Given the description of an element on the screen output the (x, y) to click on. 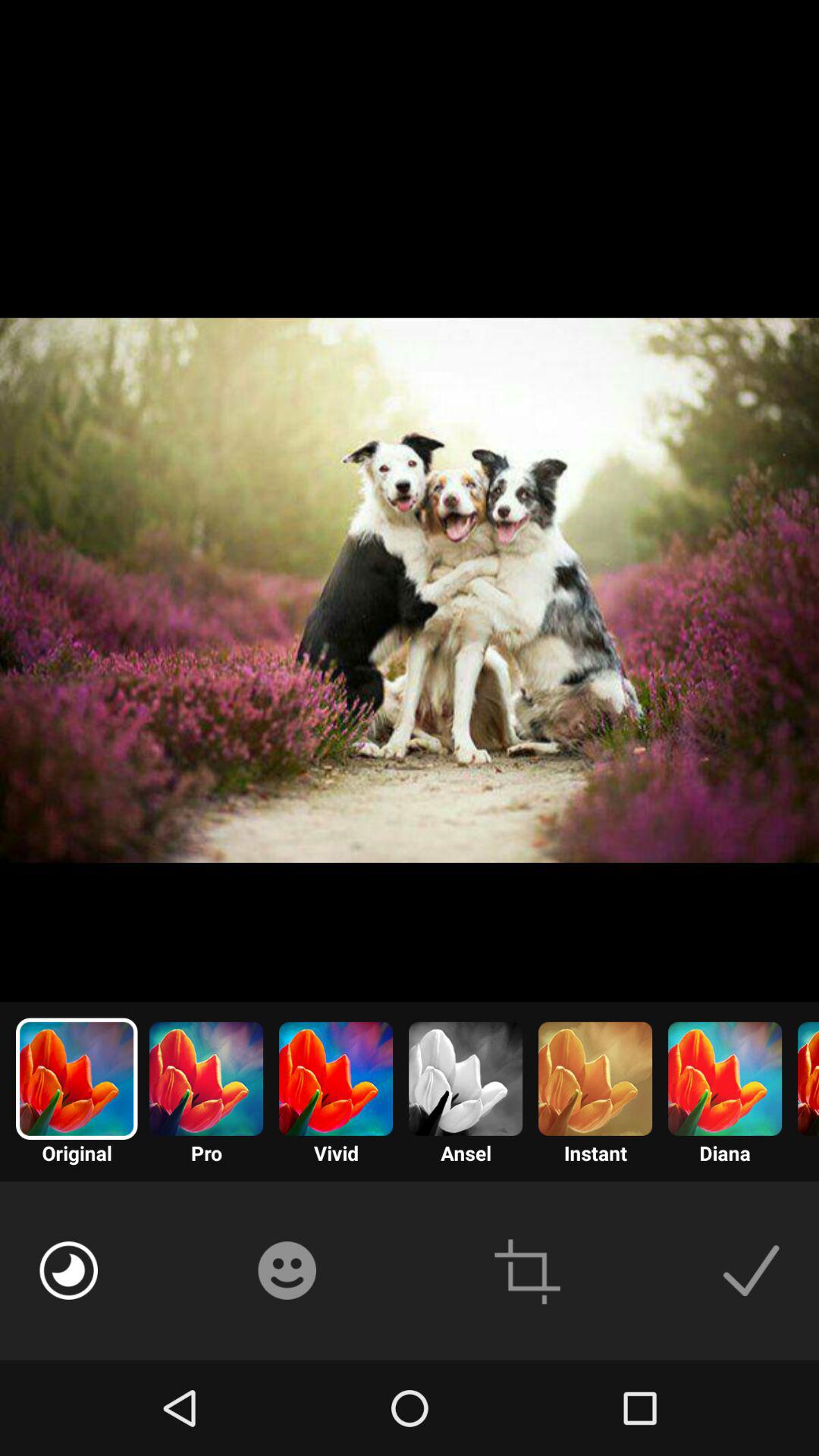
editing tool for picture (68, 1270)
